Given the description of an element on the screen output the (x, y) to click on. 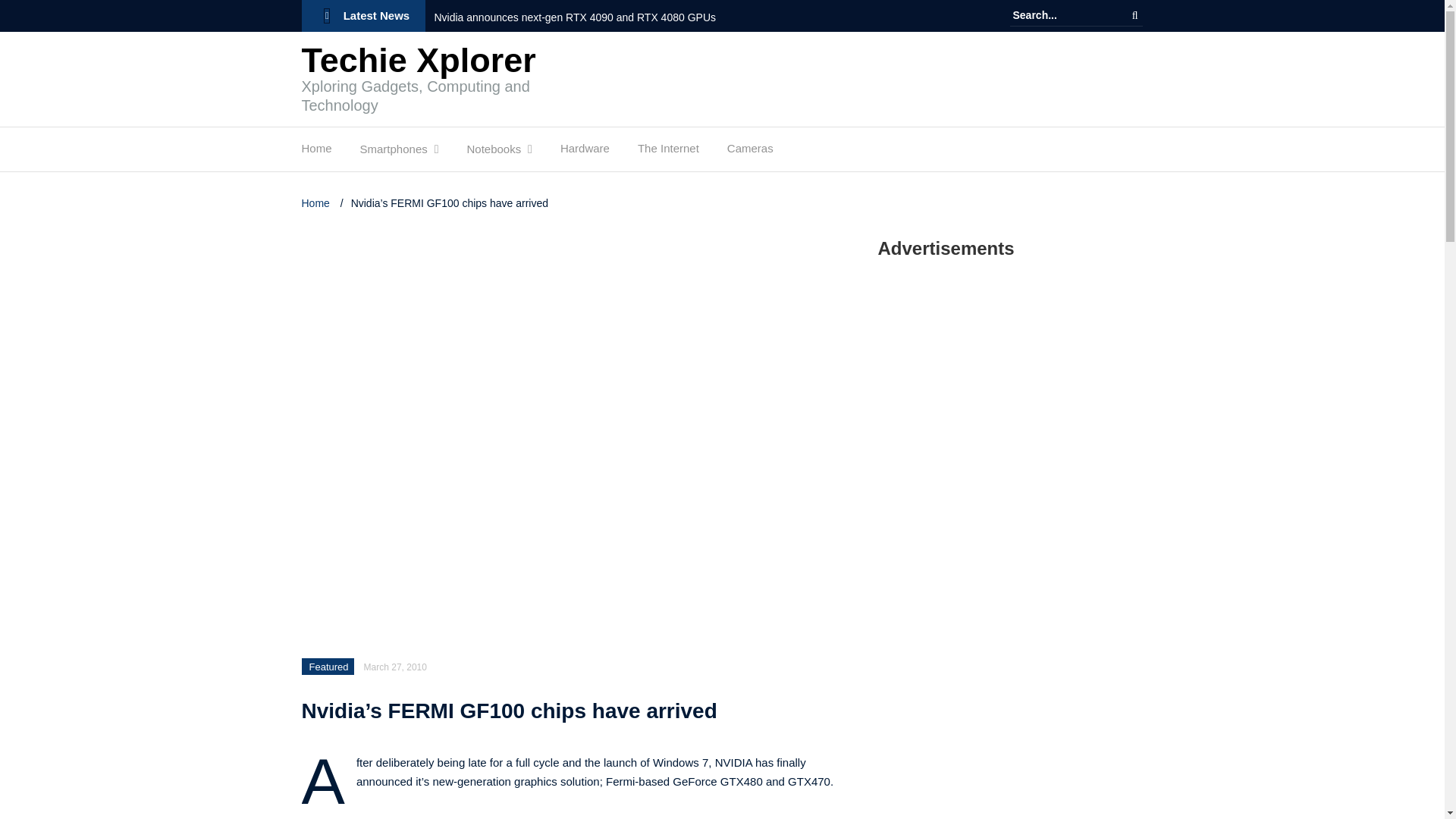
Home (316, 152)
Techie Xplorer (418, 59)
The Internet (667, 152)
Home (317, 203)
Cameras (749, 152)
Search   (1134, 14)
Hardware (585, 152)
Notebooks (493, 153)
Featured (328, 666)
Smartphones (393, 153)
Nvidia announces next-gen RTX 4090 and RTX 4080 GPUs (585, 17)
